Given the description of an element on the screen output the (x, y) to click on. 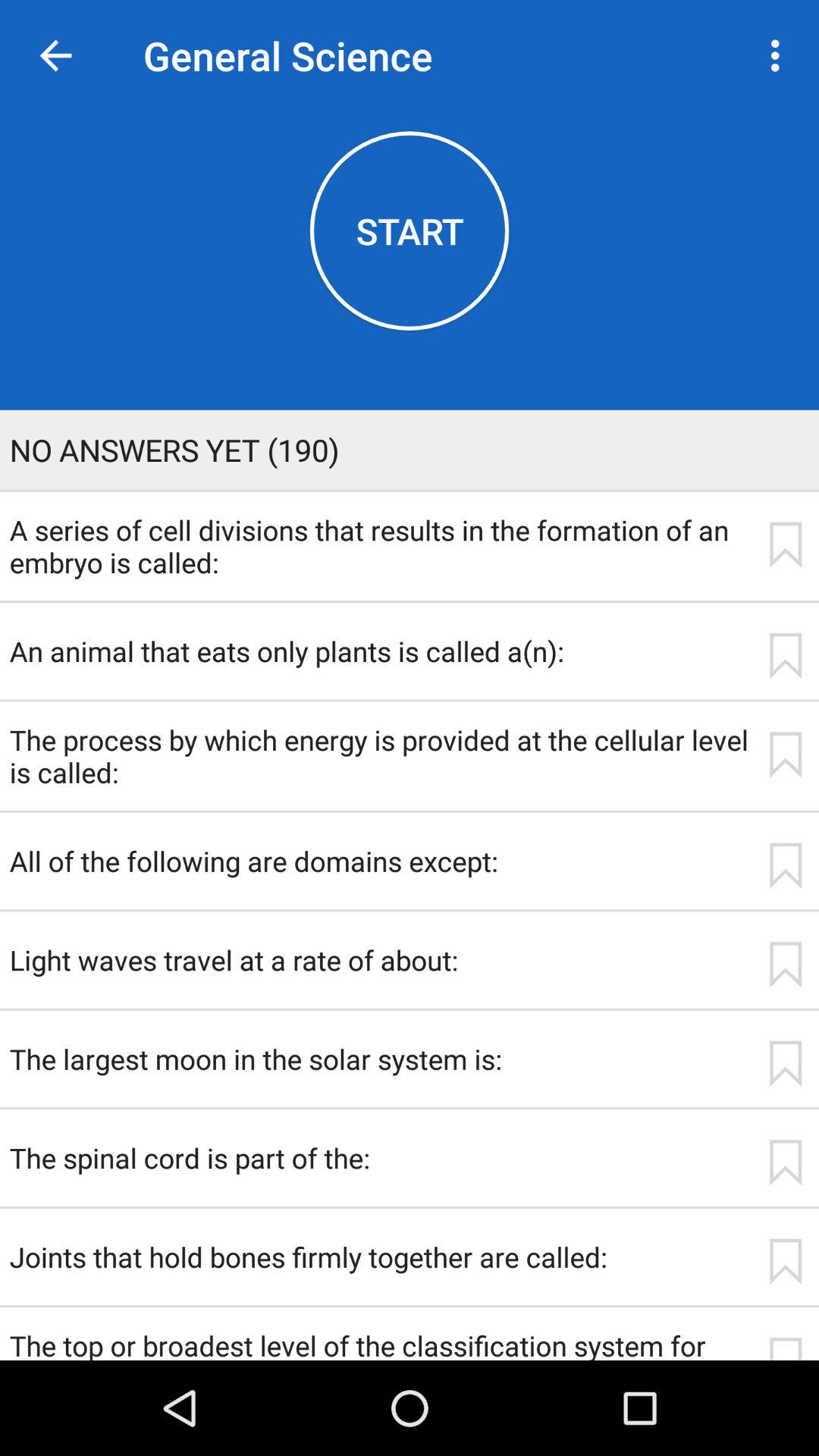
launch icon next to the a series of (784, 544)
